Given the description of an element on the screen output the (x, y) to click on. 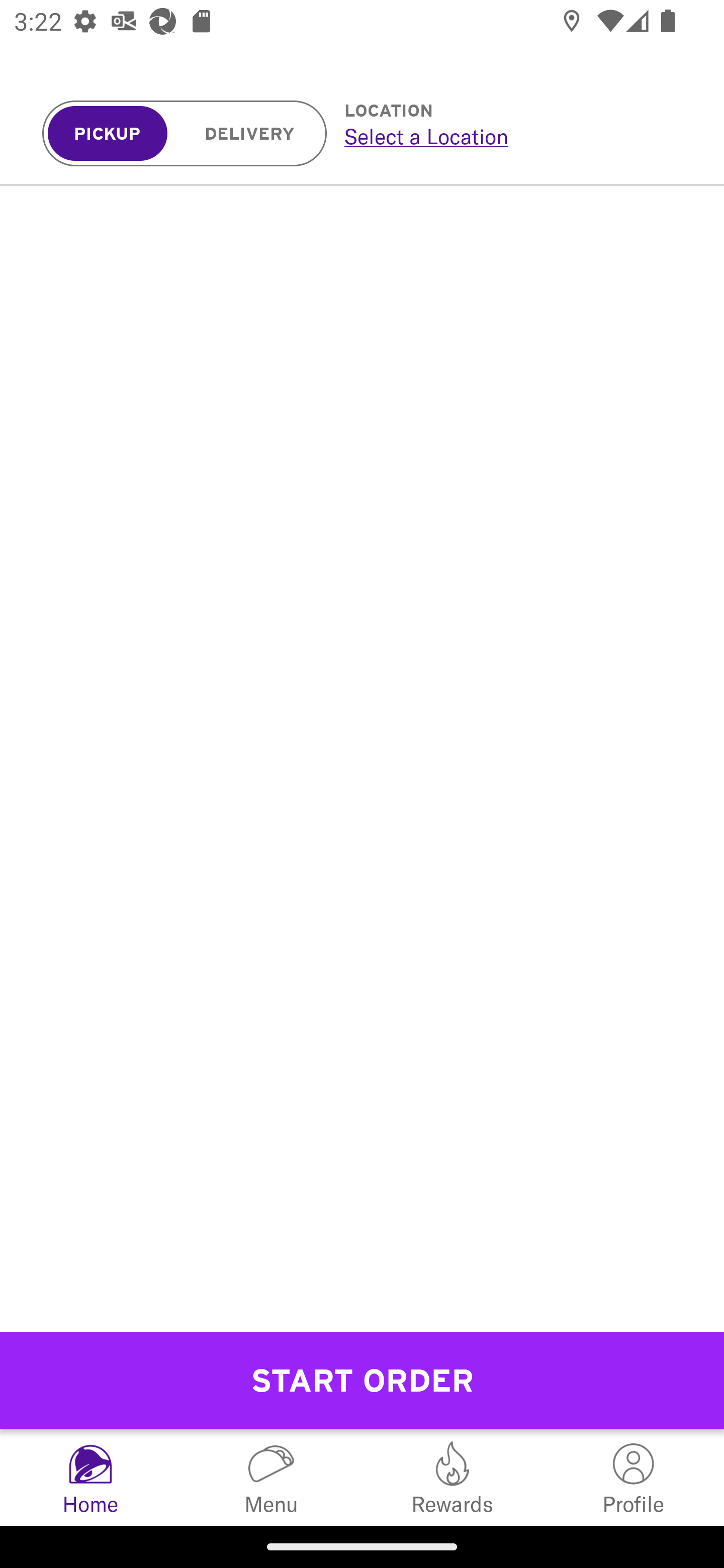
PICKUP (107, 133)
DELIVERY (249, 133)
Select a Location (511, 136)
START ORDER (362, 1379)
Home (90, 1476)
Menu (271, 1476)
Rewards (452, 1476)
My Info Profile (633, 1476)
